Given the description of an element on the screen output the (x, y) to click on. 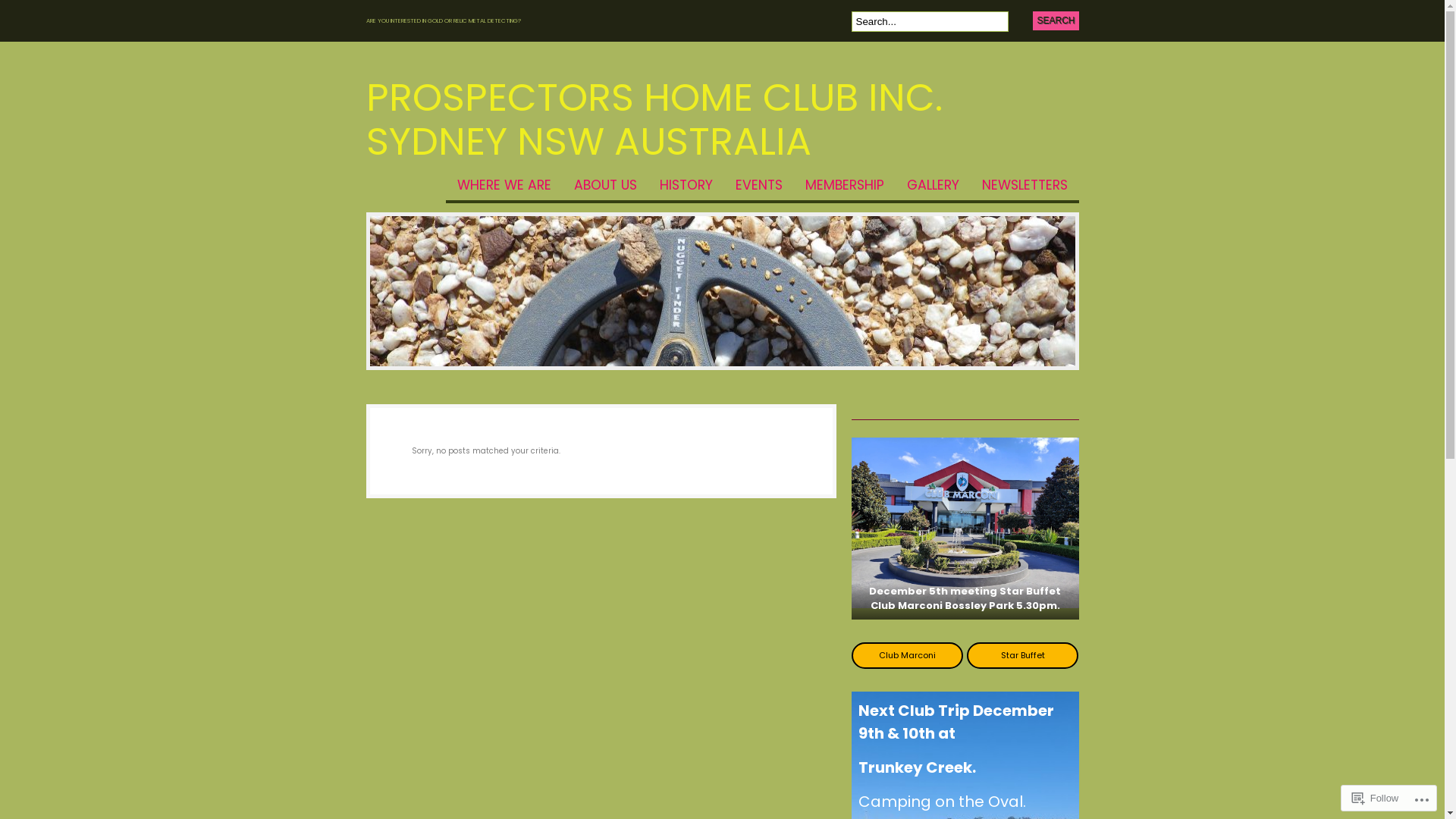
HISTORY Element type: text (685, 190)
Follow Element type: text (1375, 797)
Star Buffet Element type: text (1022, 654)
EVENTS Element type: text (758, 190)
NEWSLETTERS Element type: text (1024, 190)
GALLERY Element type: text (931, 190)
PROSPECTORS HOME CLUB INC. SYDNEY NSW AUSTRALIA Element type: text (653, 119)
ABOUT US Element type: text (605, 190)
WHERE WE ARE Element type: text (503, 190)
MEMBERSHIP Element type: text (843, 190)
Club Marconi Element type: text (906, 654)
Search Element type: text (1055, 20)
